Given the description of an element on the screen output the (x, y) to click on. 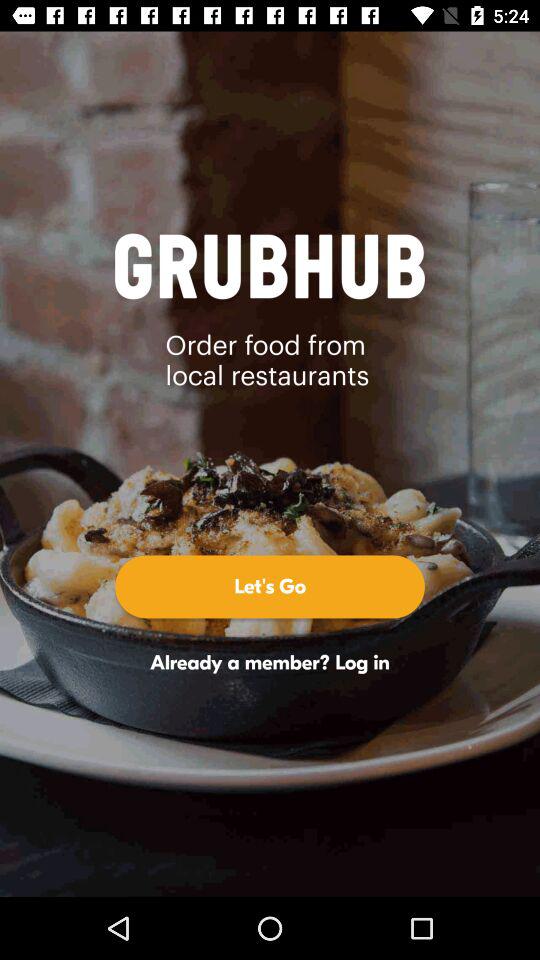
open icon below order food from (269, 586)
